Given the description of an element on the screen output the (x, y) to click on. 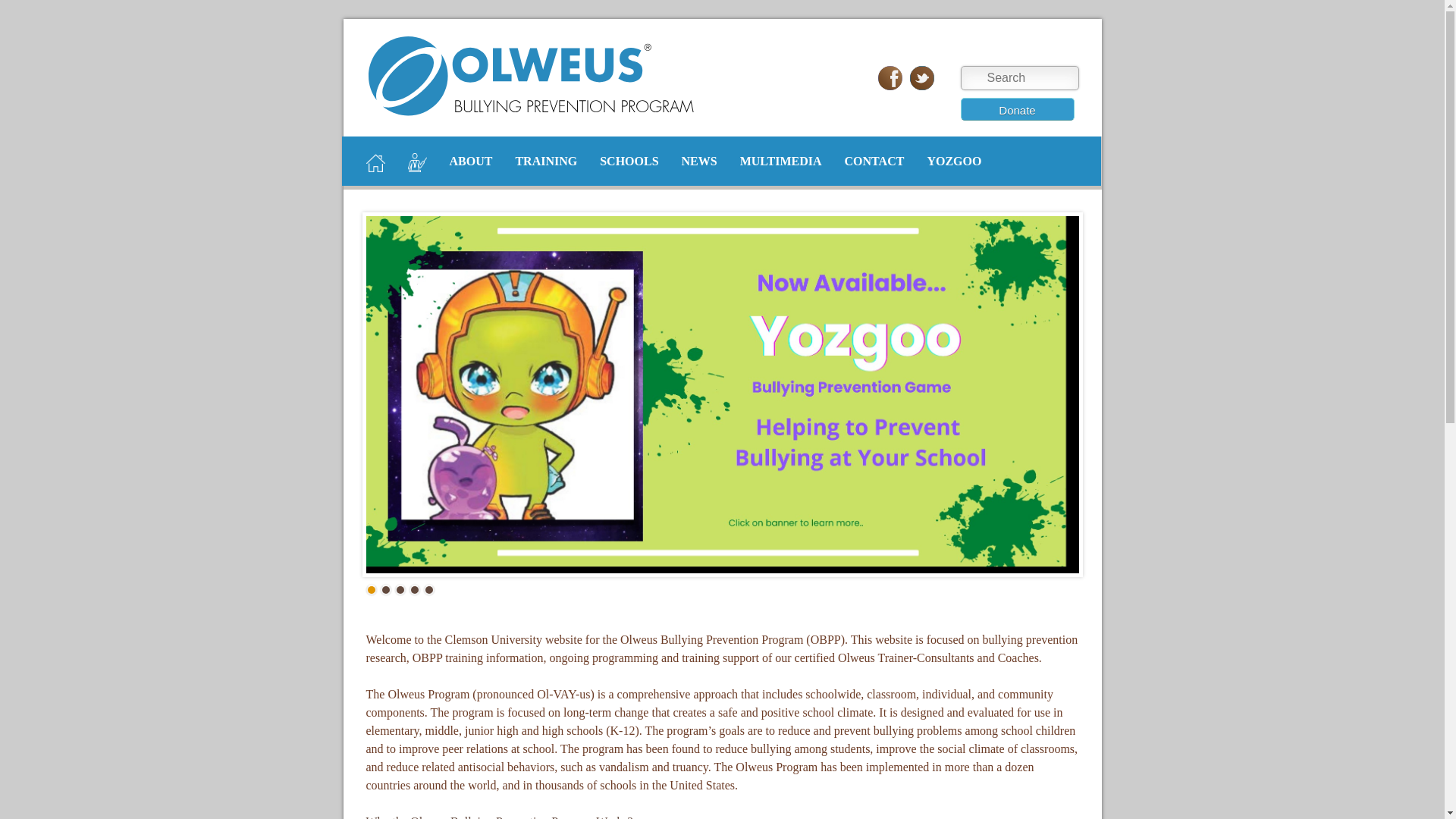
CONTACT (873, 160)
YOZGOO (953, 160)
1 (370, 589)
NEWS (699, 160)
Donate (1016, 108)
2 (385, 589)
SCHOOLS (628, 160)
TRAINING (545, 160)
3 (399, 589)
4 (414, 589)
Donate (1016, 108)
MULTIMEDIA (780, 160)
ABOUT (470, 160)
